Given the description of an element on the screen output the (x, y) to click on. 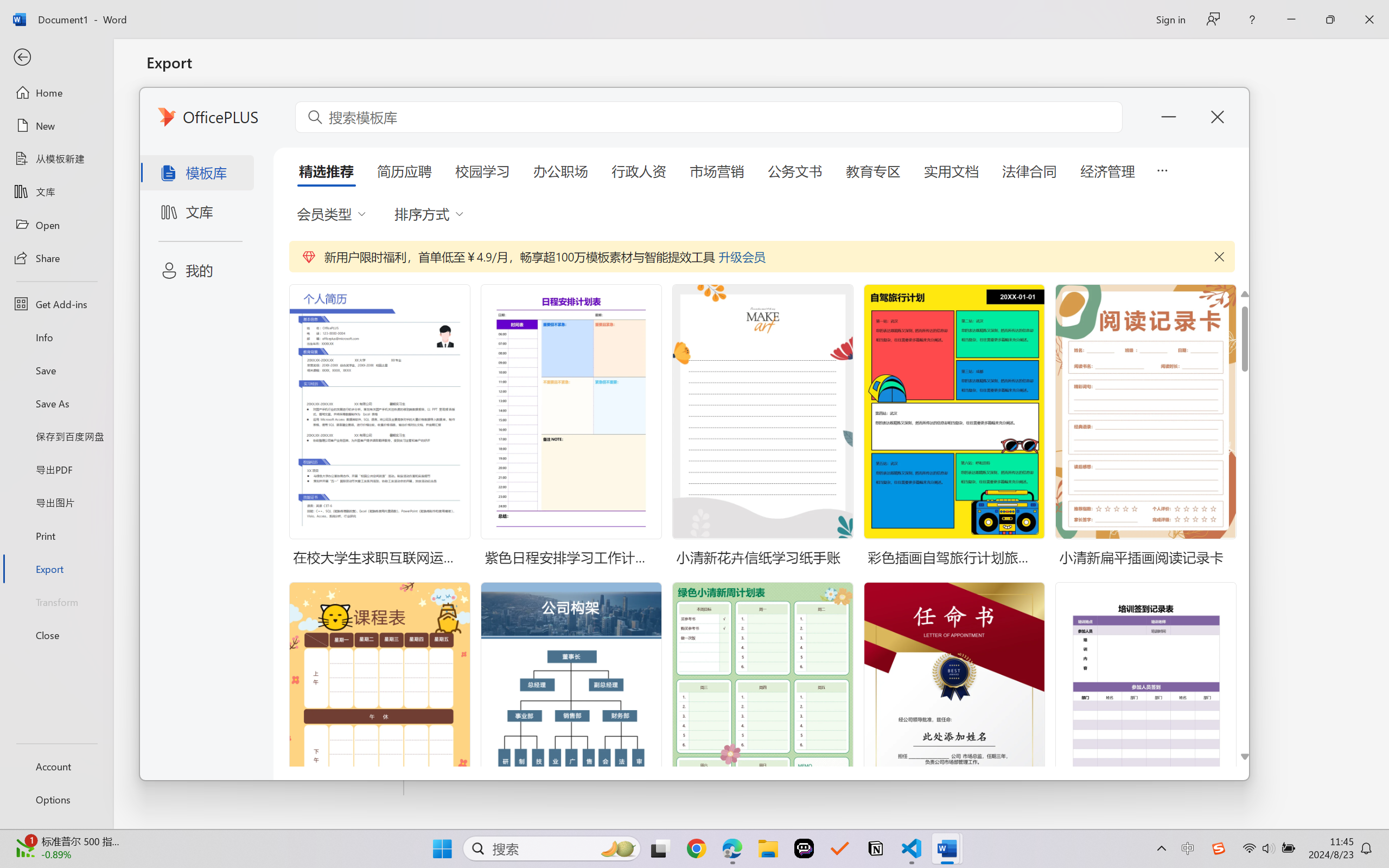
Change File Type (275, 158)
Info (56, 337)
Publishing Features (275, 449)
Create PDF/XPS Document (275, 110)
